Given the description of an element on the screen output the (x, y) to click on. 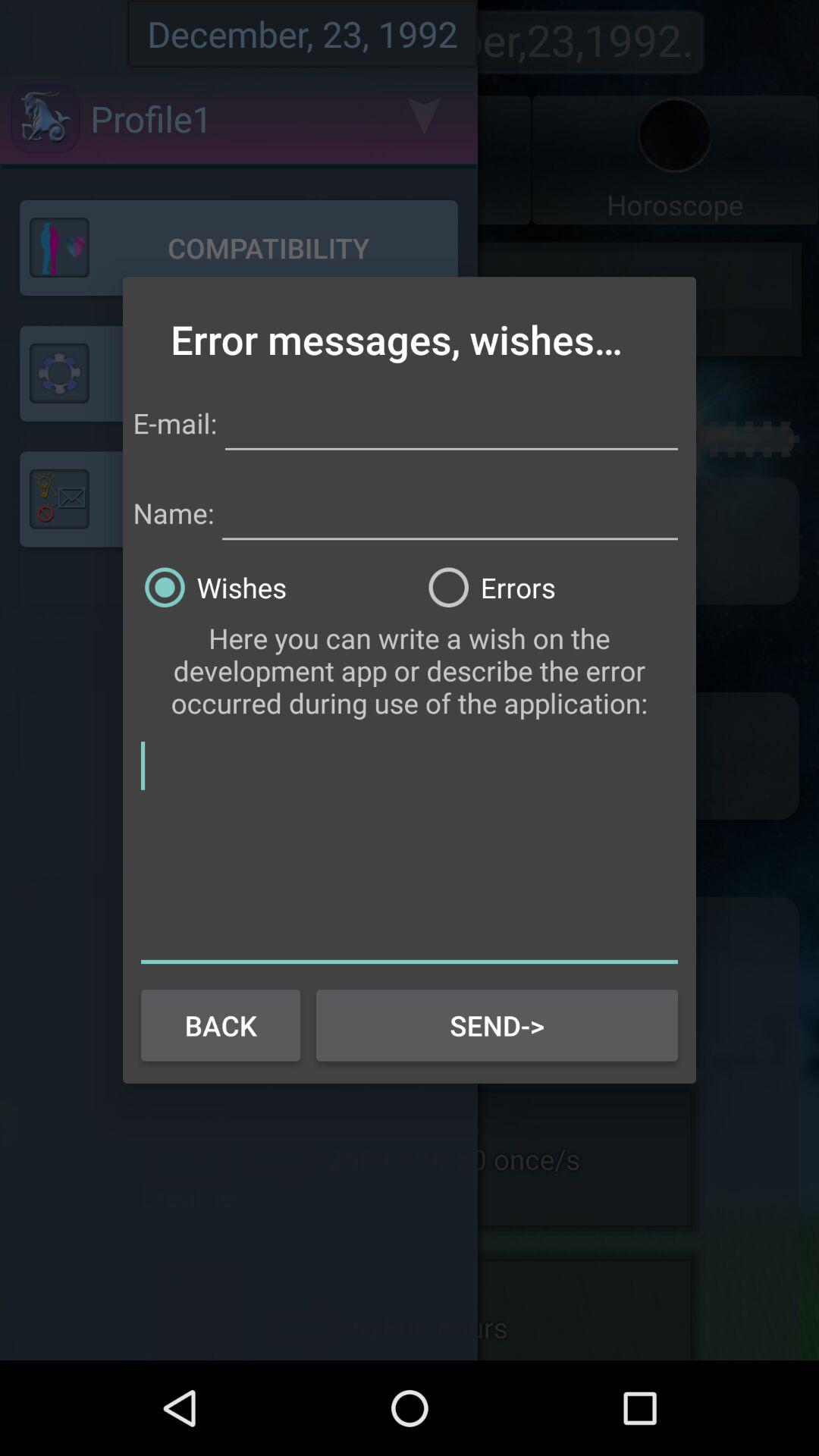
text box for wish or error (409, 849)
